Given the description of an element on the screen output the (x, y) to click on. 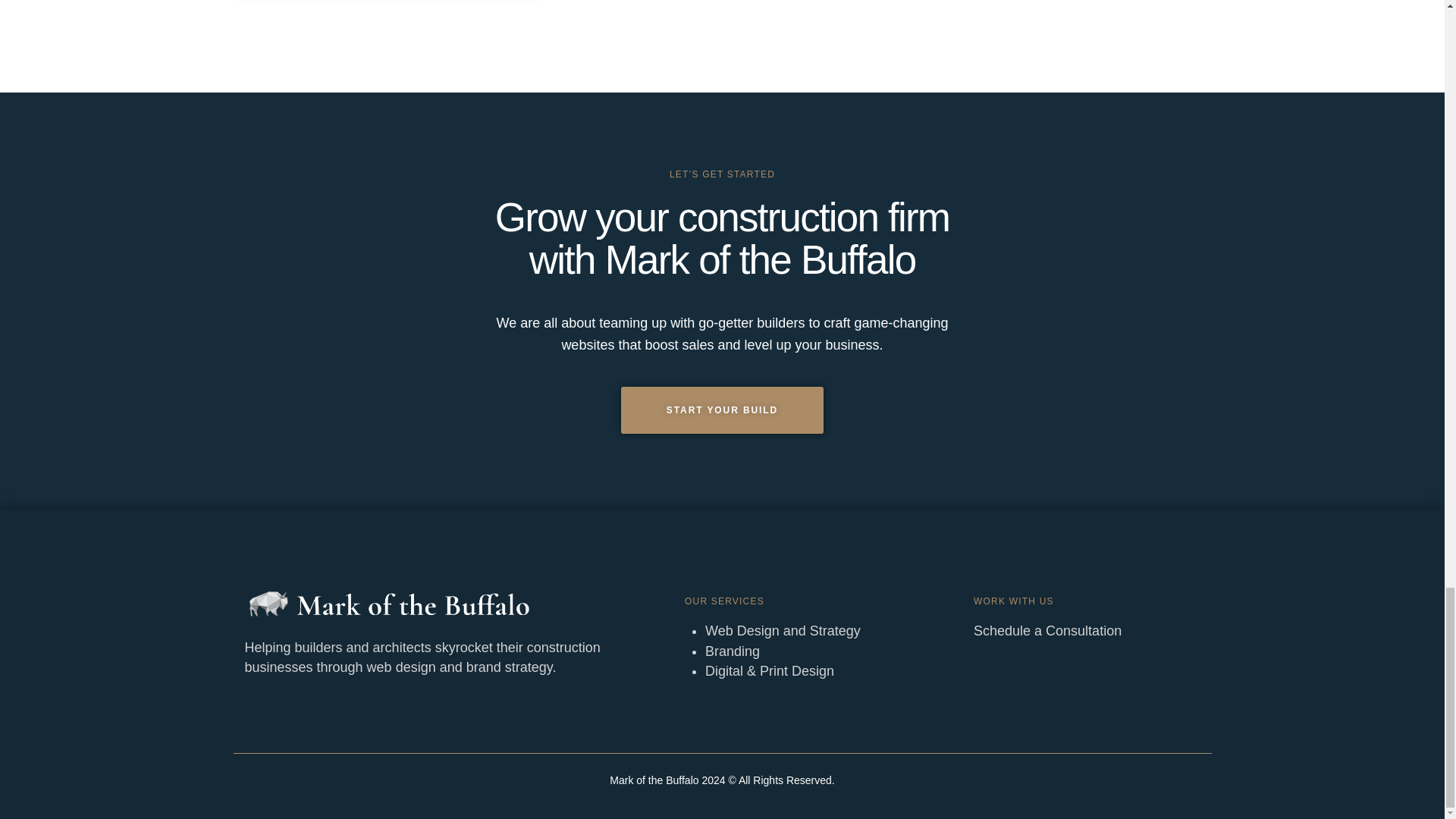
Branding (732, 651)
START YOUR BUILD (722, 410)
Web Design and Strategy (782, 630)
Schedule a Consultation (1047, 630)
